Given the description of an element on the screen output the (x, y) to click on. 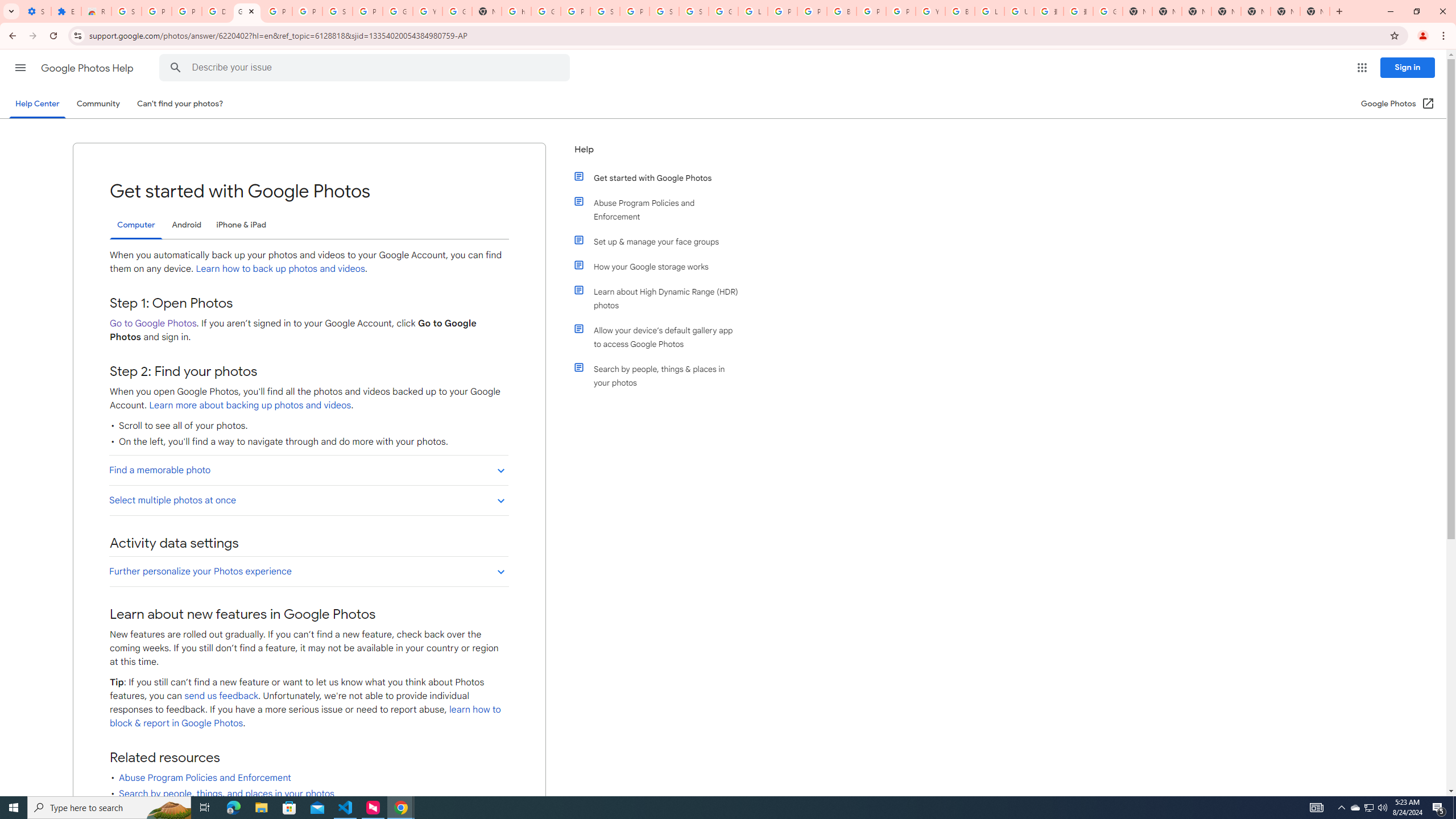
Find a memorable photo (308, 469)
Search by people, things, and places in your photos (226, 793)
Go to Google Photos (152, 323)
Settings - On startup (36, 11)
Learn more about backing up photos and videos (249, 405)
Delete photos & videos - Computer - Google Photos Help (216, 11)
Describe your issue (366, 67)
Search Help Center (176, 67)
Can't find your photos? (180, 103)
